Given the description of an element on the screen output the (x, y) to click on. 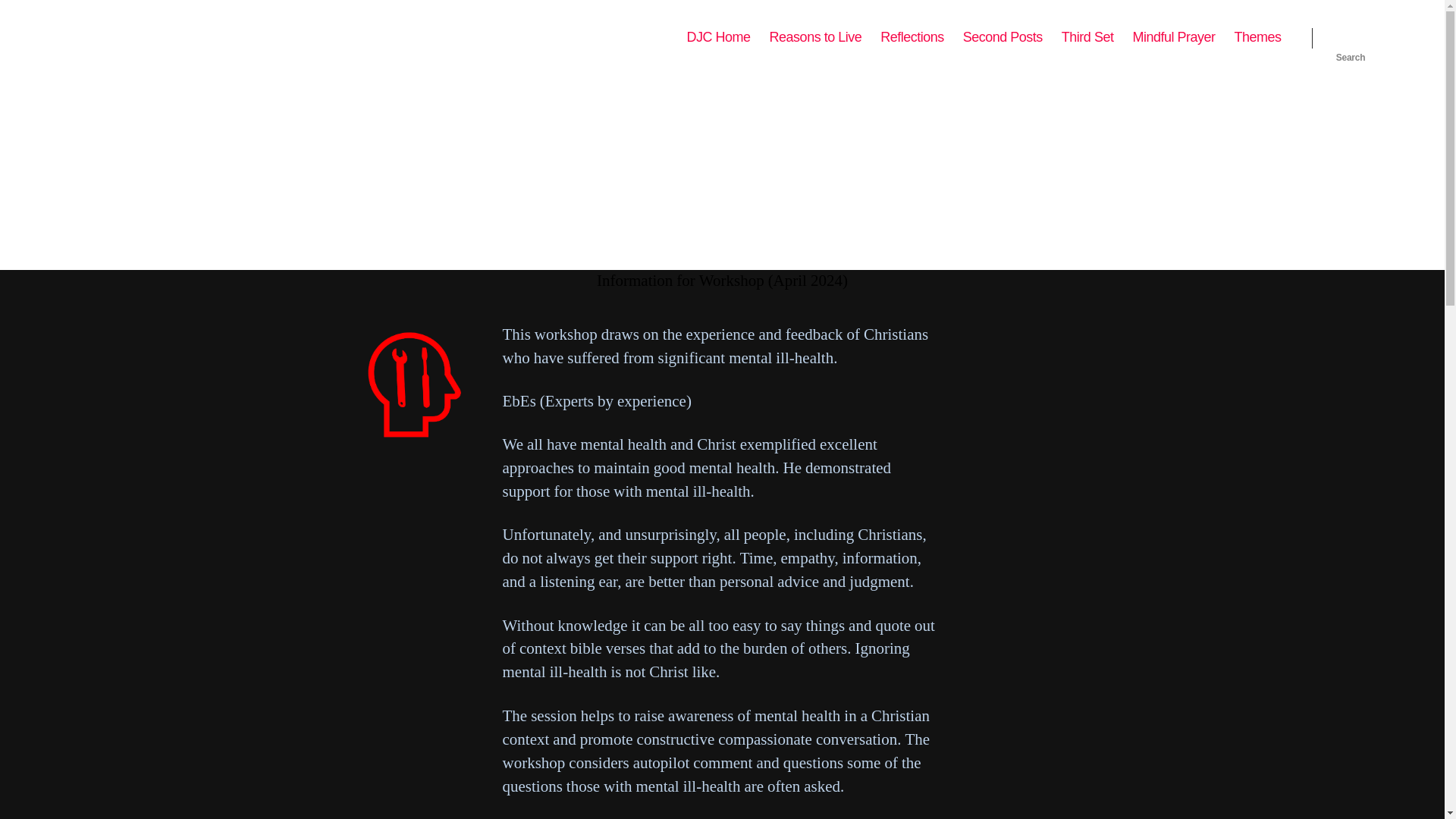
Mindful Prayer (1173, 37)
Reflections (911, 37)
Third Set (1087, 37)
Reasons to Live (815, 37)
Search (1350, 37)
DJChannon (132, 37)
Second Posts (1002, 37)
Themes (1257, 37)
Faith and Traumatic Brain Injury April 20- March 21 (911, 37)
DJC Home (719, 37)
